Given the description of an element on the screen output the (x, y) to click on. 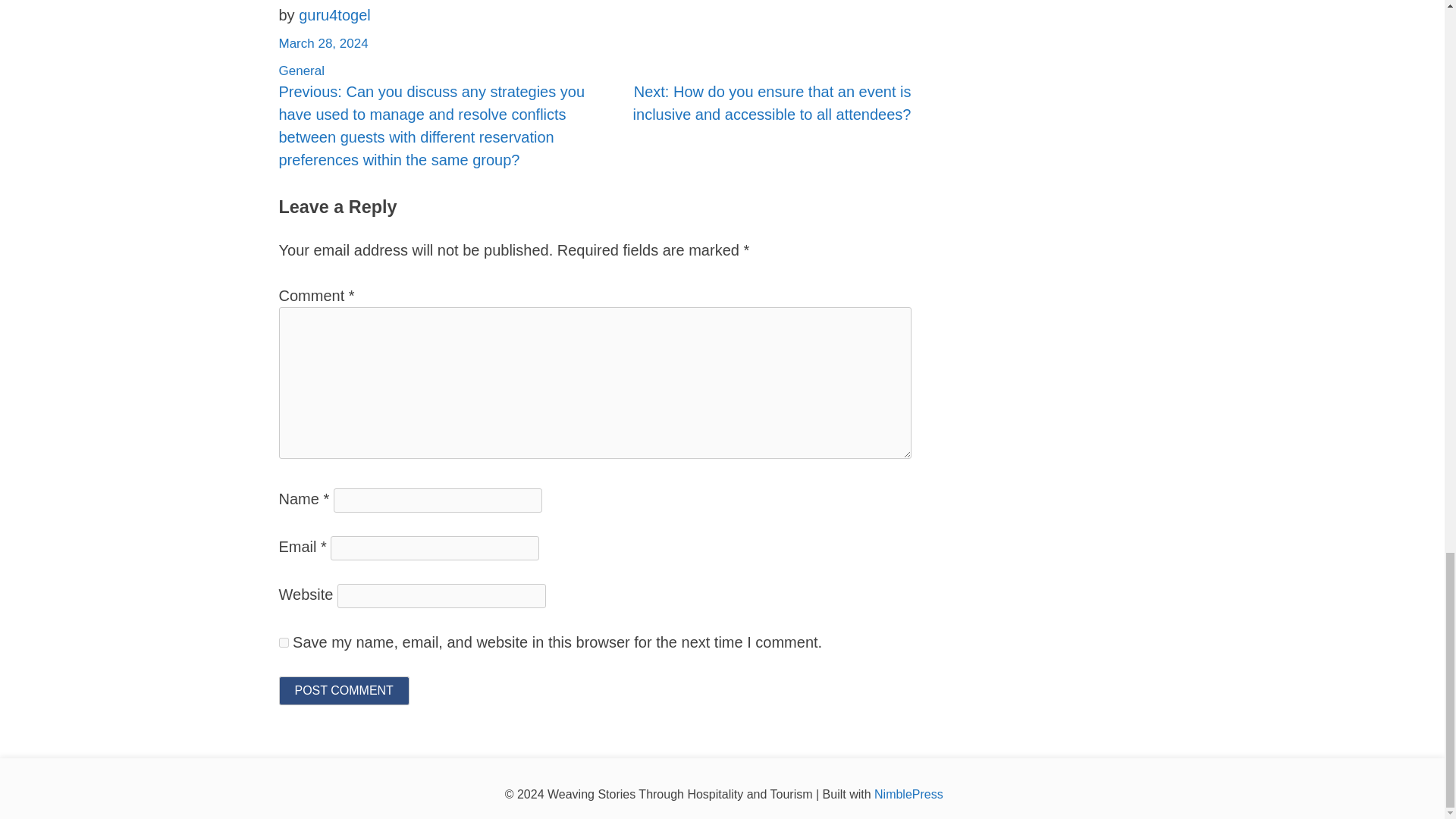
yes (283, 642)
NimblePress (909, 794)
guru4togel (334, 14)
Post Comment (344, 690)
March 28, 2024 (323, 43)
Post Comment (344, 690)
General (301, 70)
